Given the description of an element on the screen output the (x, y) to click on. 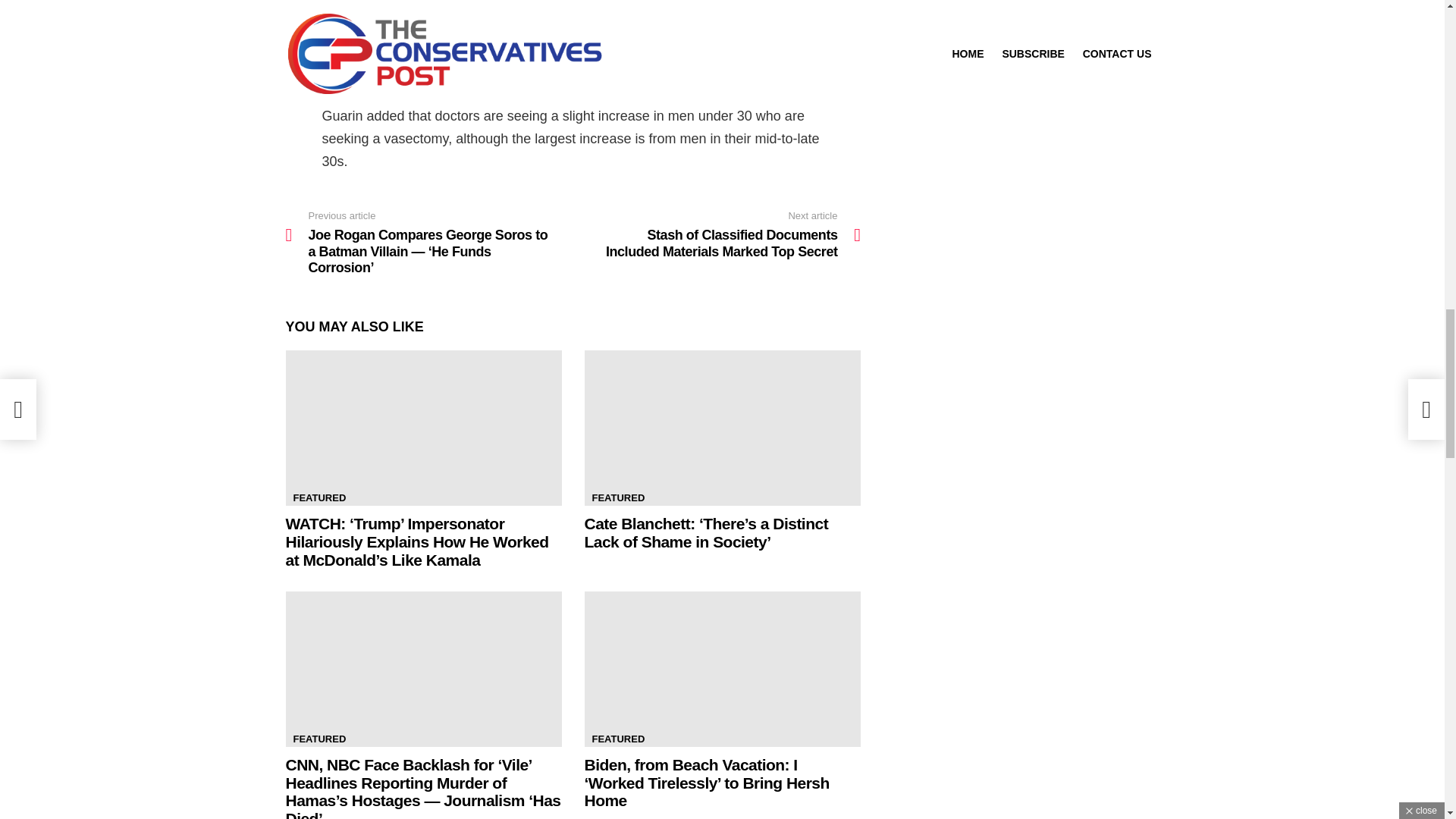
FEATURED (617, 498)
FEATURED (319, 739)
FEATURED (319, 498)
FEATURED (617, 739)
